Given the description of an element on the screen output the (x, y) to click on. 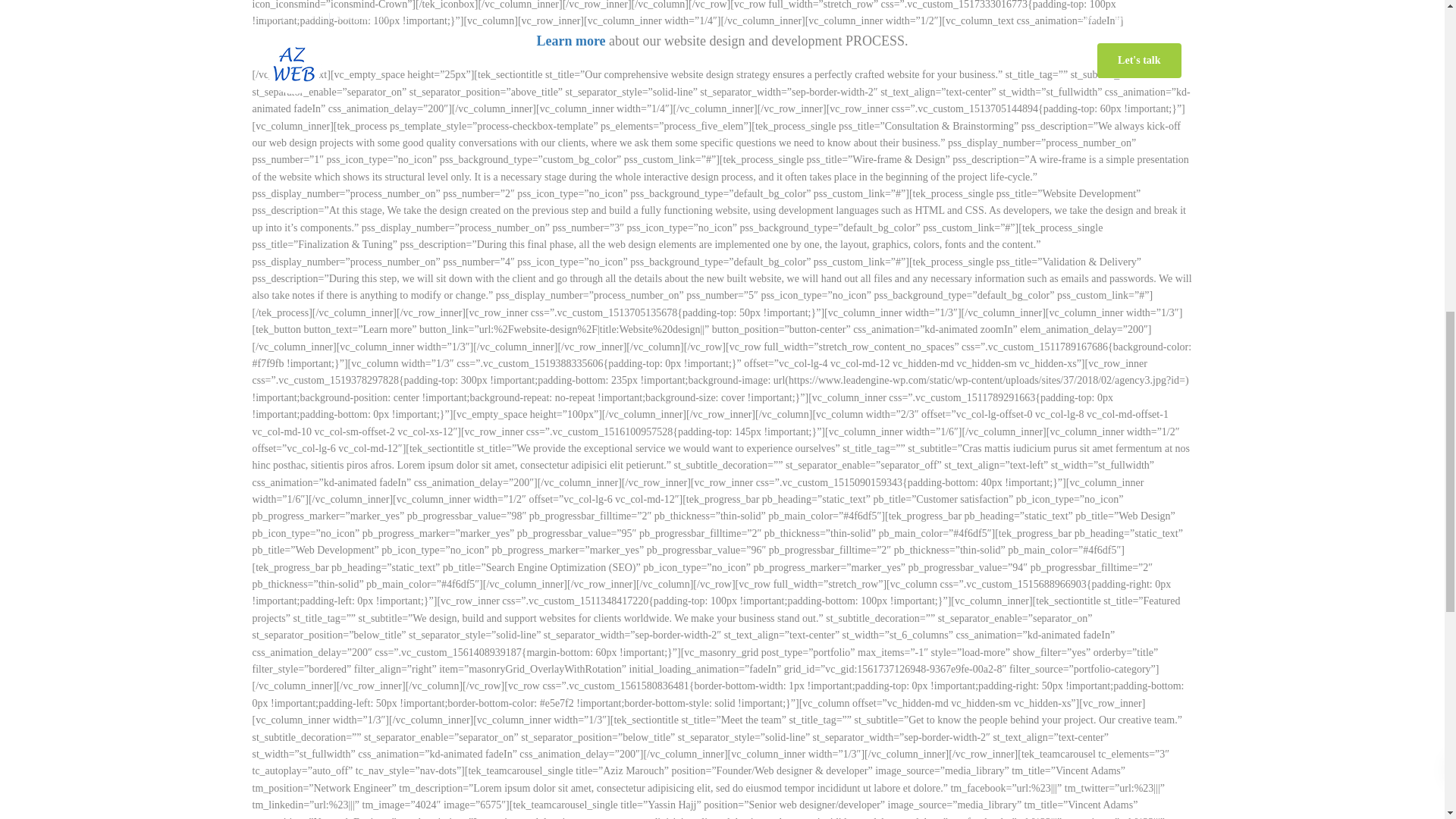
Learn more (570, 40)
